Given the description of an element on the screen output the (x, y) to click on. 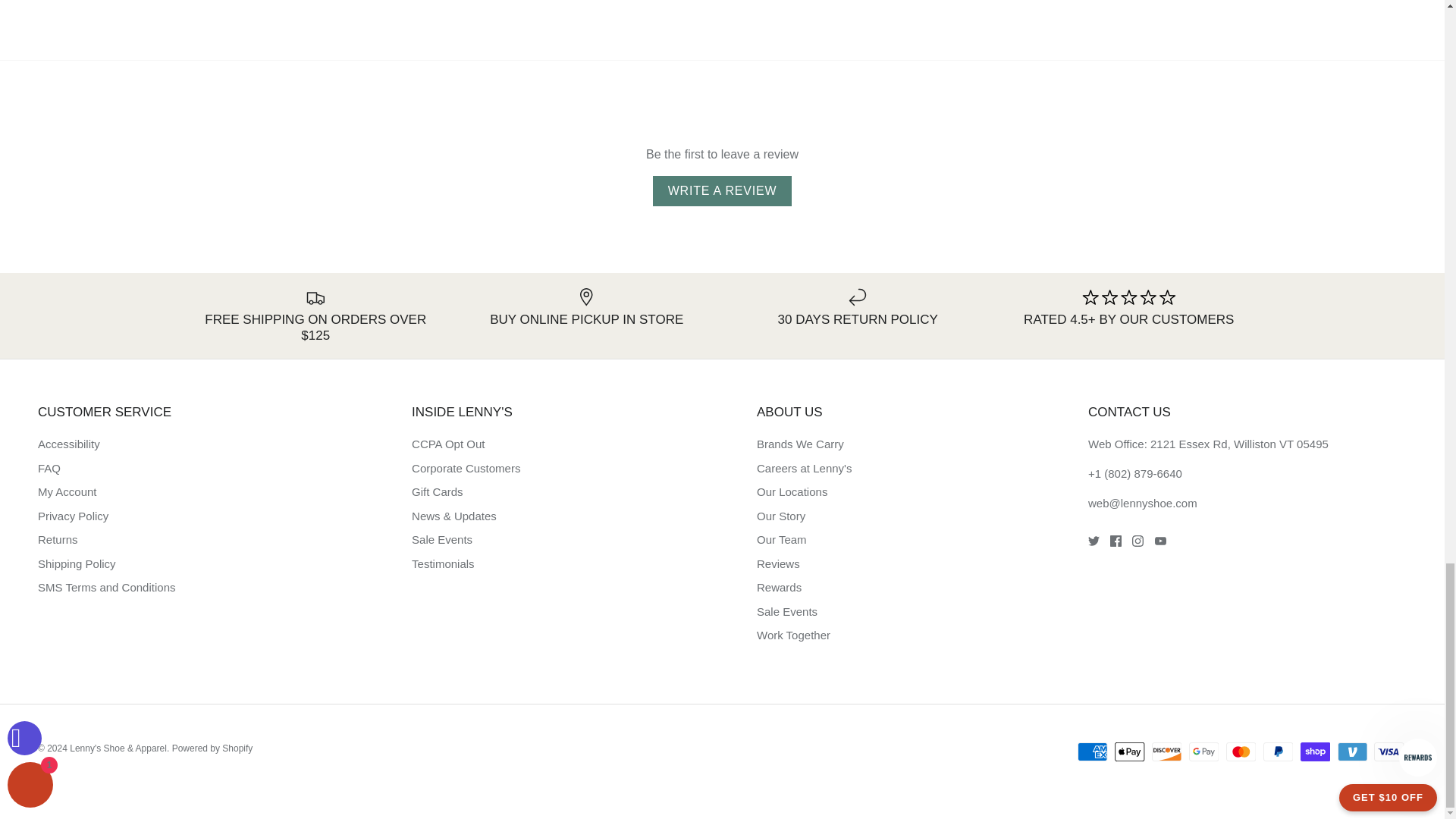
Facebook (1115, 541)
Twitter (1093, 541)
